Given the description of an element on the screen output the (x, y) to click on. 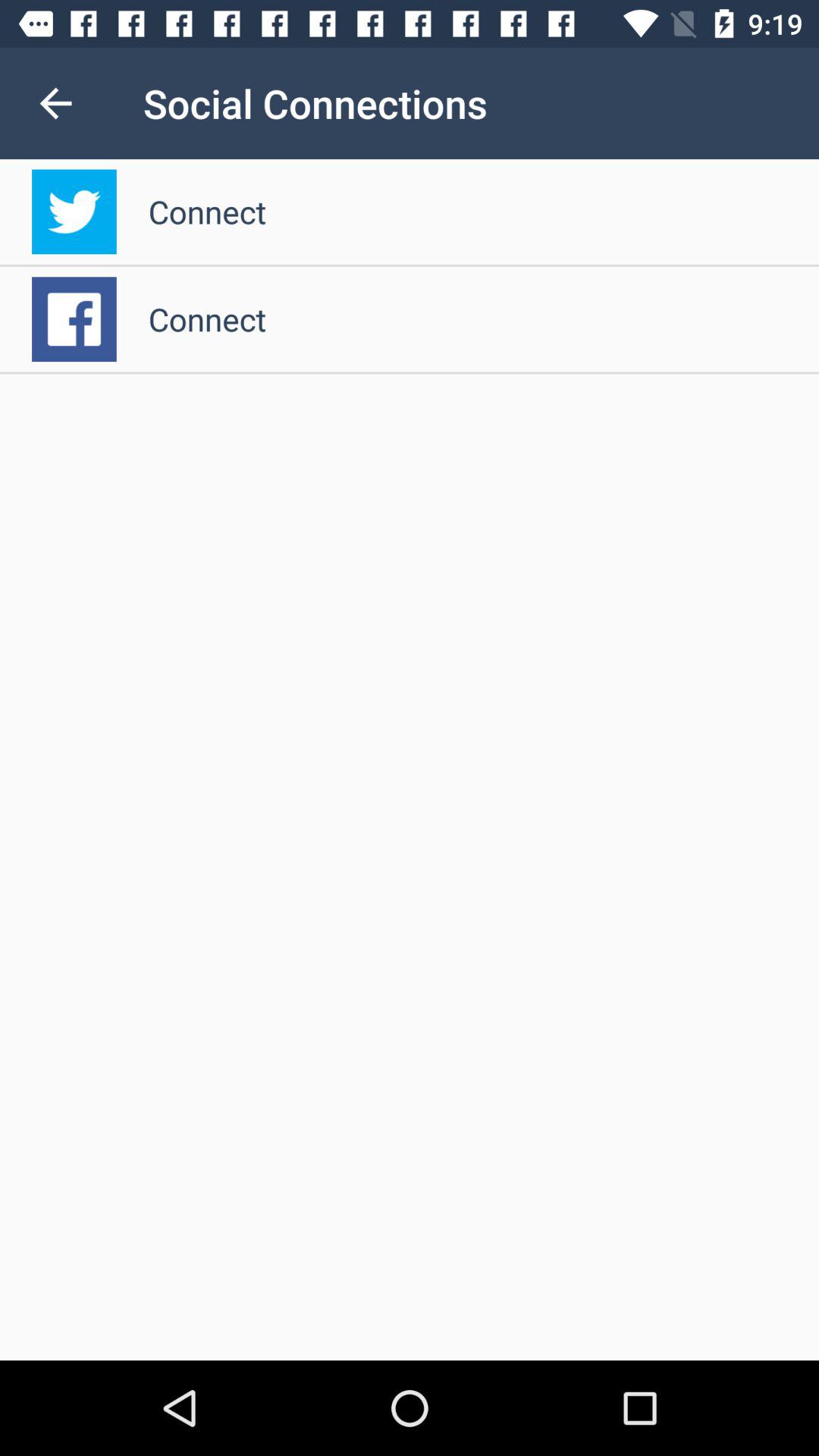
launch the item next to social connections icon (55, 103)
